Given the description of an element on the screen output the (x, y) to click on. 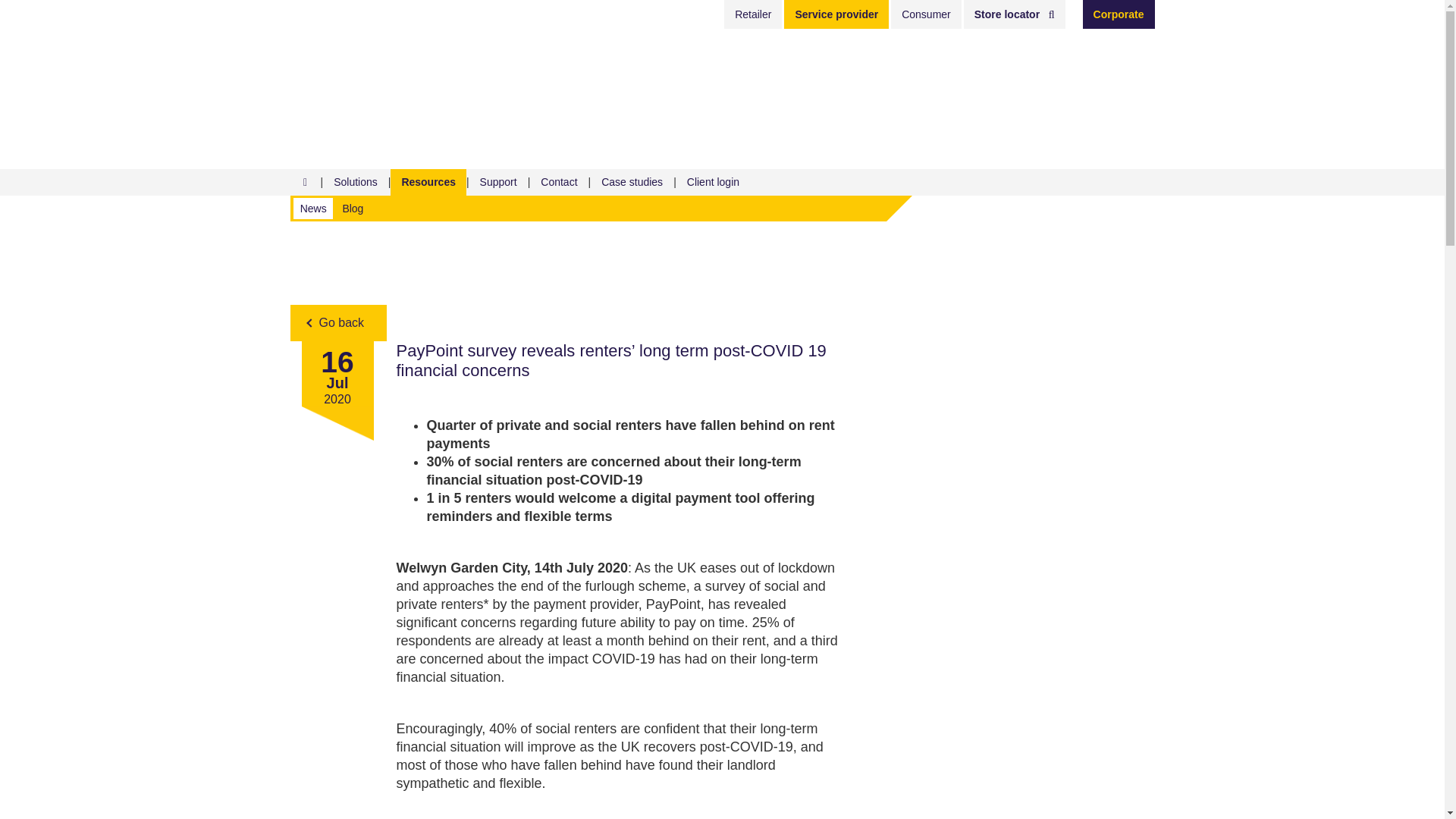
Store locator   (1014, 14)
Blog (352, 208)
Case studies (631, 182)
Corporate (1118, 14)
Retailer (752, 14)
Consumer (925, 14)
Service provider (836, 14)
Client login (713, 182)
News (313, 208)
Contact (558, 182)
